Given the description of an element on the screen output the (x, y) to click on. 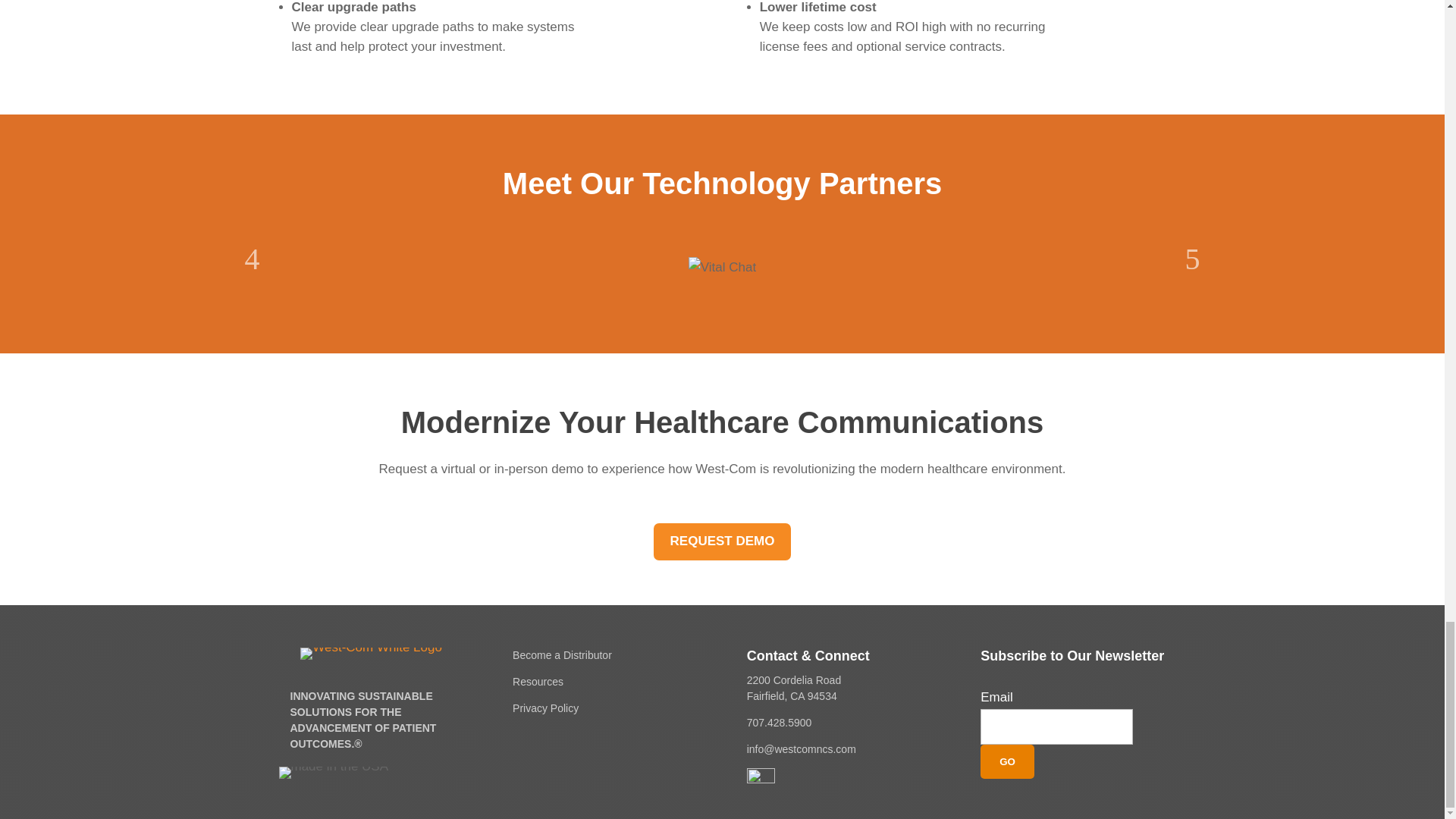
REQUEST DEMO (722, 541)
Go (1006, 761)
707.428.5900 (779, 722)
Privacy Policy (545, 707)
Become a Distributor (561, 654)
Resources (537, 681)
